Given the description of an element on the screen output the (x, y) to click on. 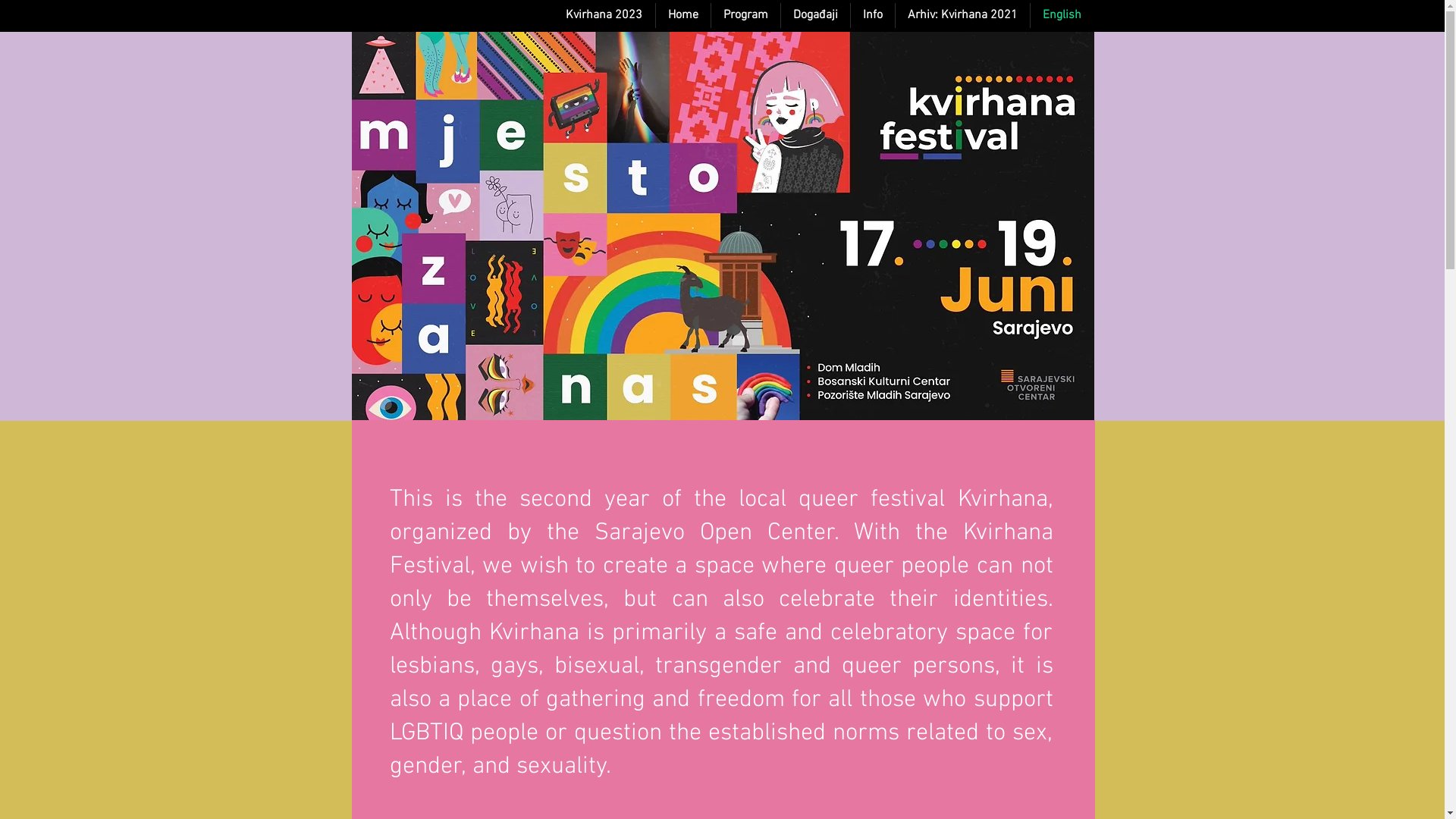
Info Element type: text (872, 15)
Home Element type: text (682, 15)
Program Element type: text (745, 15)
English Element type: text (1060, 15)
Arhiv: Kvirhana 2021 Element type: text (961, 15)
Kvirhana 2023 Element type: text (604, 15)
